Given the description of an element on the screen output the (x, y) to click on. 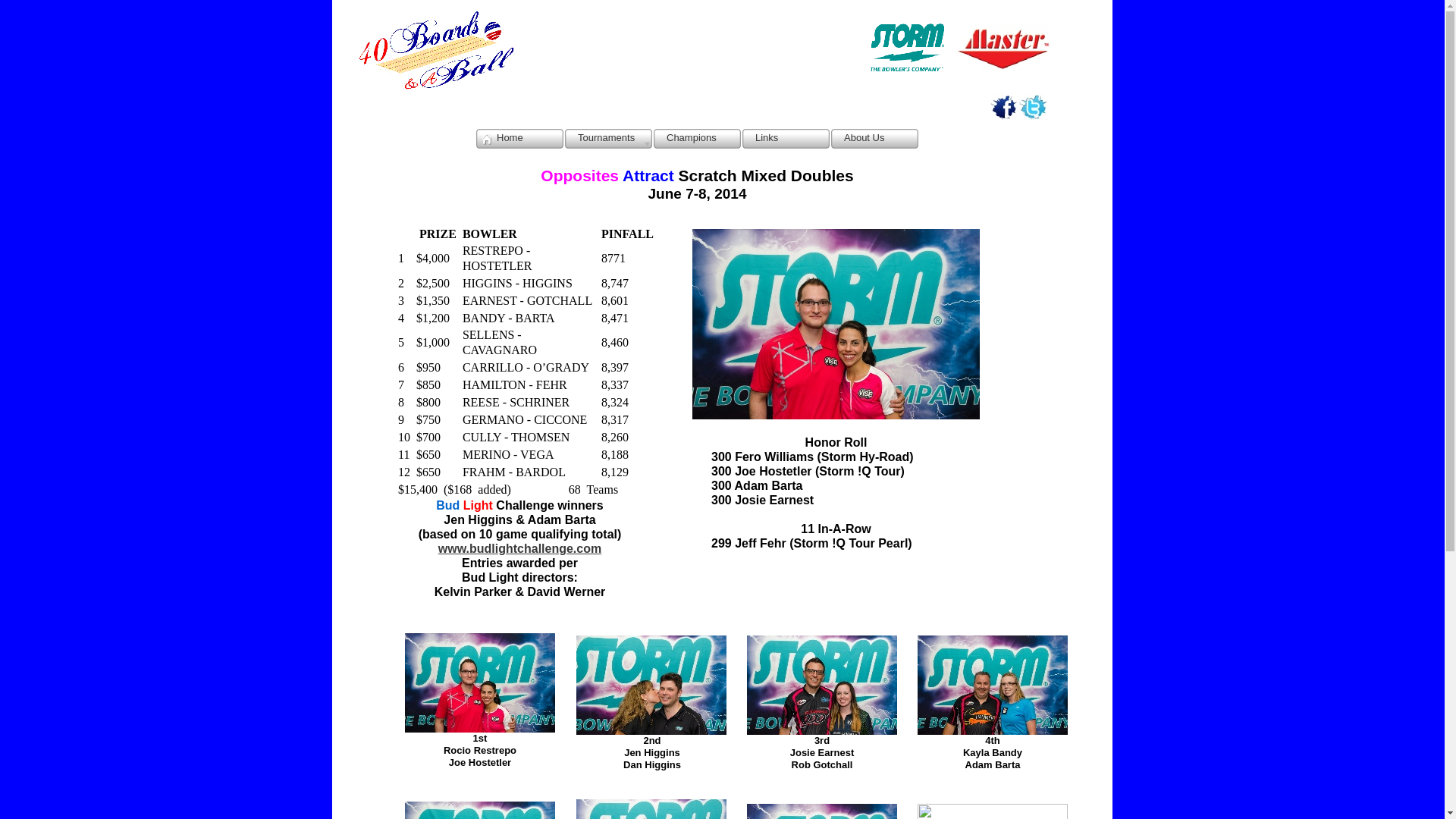
Champions Element type: text (696, 138)
About Us Element type: text (874, 138)
Home Element type: text (519, 138)
Tournaments Element type: text (608, 138)
Links Element type: text (785, 138)
www.budlightchallenge.com Element type: text (519, 548)
